Given the description of an element on the screen output the (x, y) to click on. 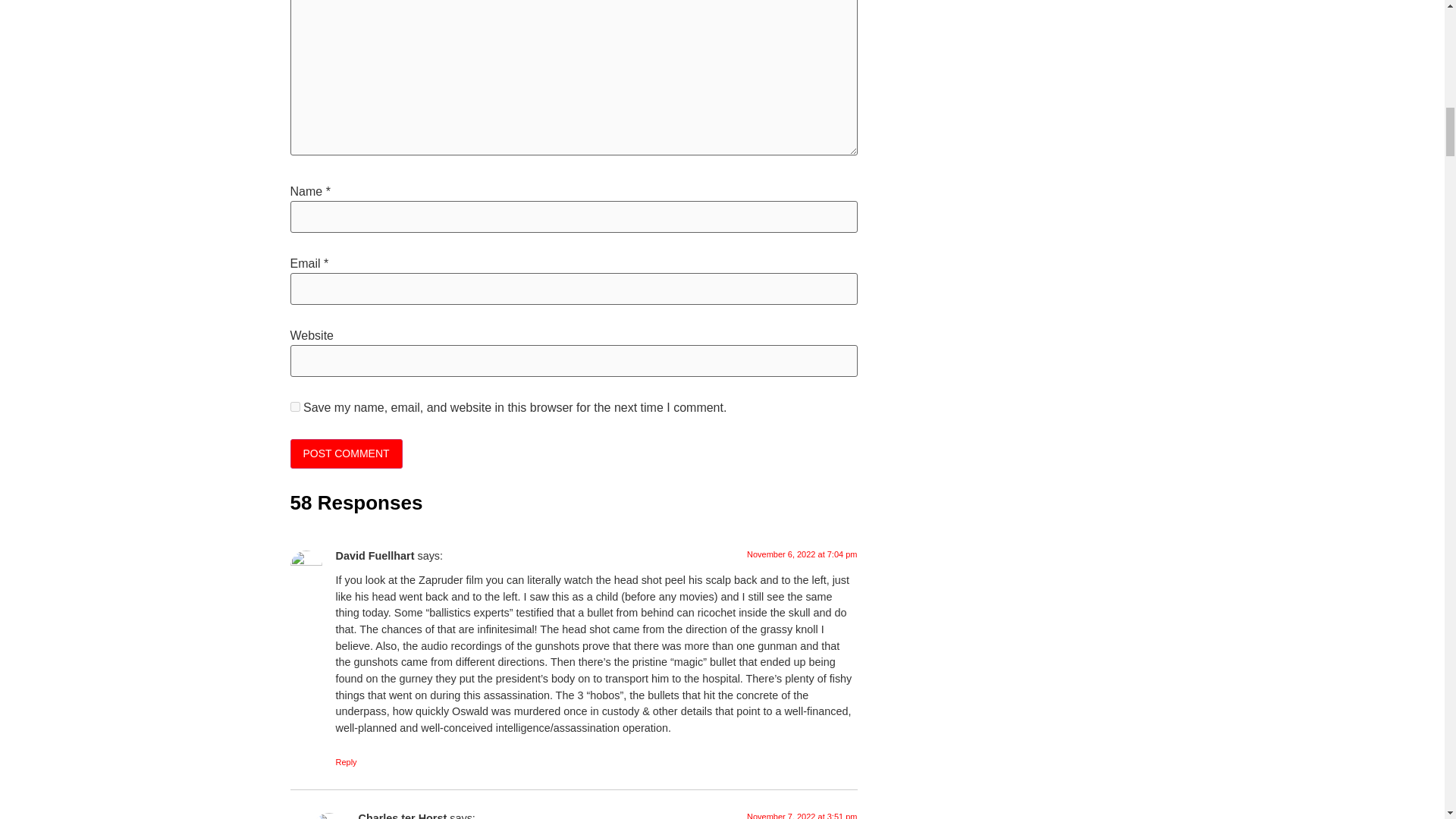
Reply (345, 761)
yes (294, 406)
Post Comment (345, 453)
Post Comment (345, 453)
November 6, 2022 at 7:04 pm (801, 553)
November 7, 2022 at 3:51 pm (801, 815)
